Given the description of an element on the screen output the (x, y) to click on. 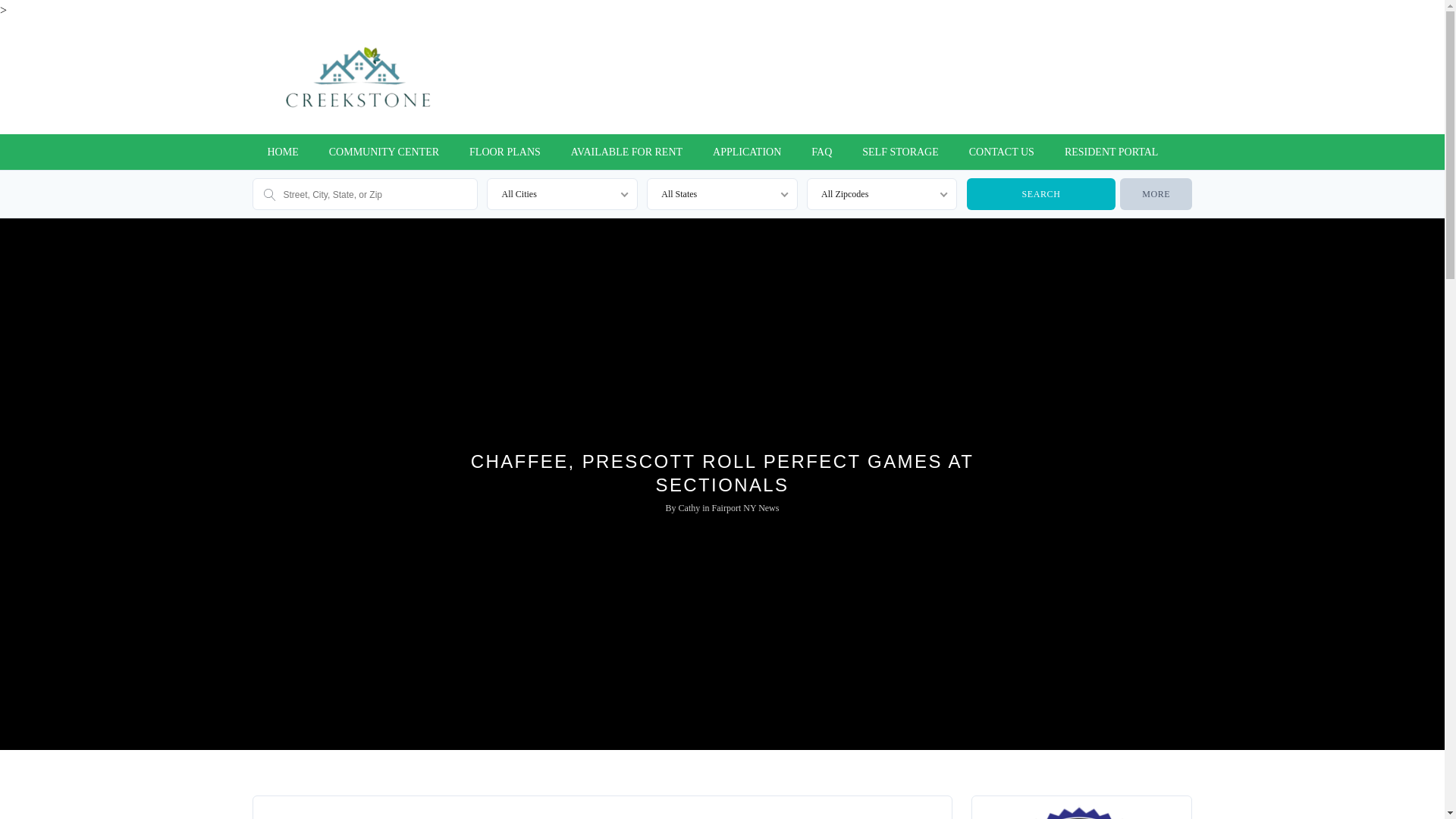
CONTACT US (1001, 151)
Search (1040, 193)
Cathy (689, 507)
HOME (282, 151)
FLOOR PLANS (505, 151)
AVAILABLE FOR RENT (626, 151)
RESIDENT PORTAL (1111, 151)
COMMUNITY CENTER (384, 151)
Search (1040, 193)
Accessibility Tools (1424, 95)
